Given the description of an element on the screen output the (x, y) to click on. 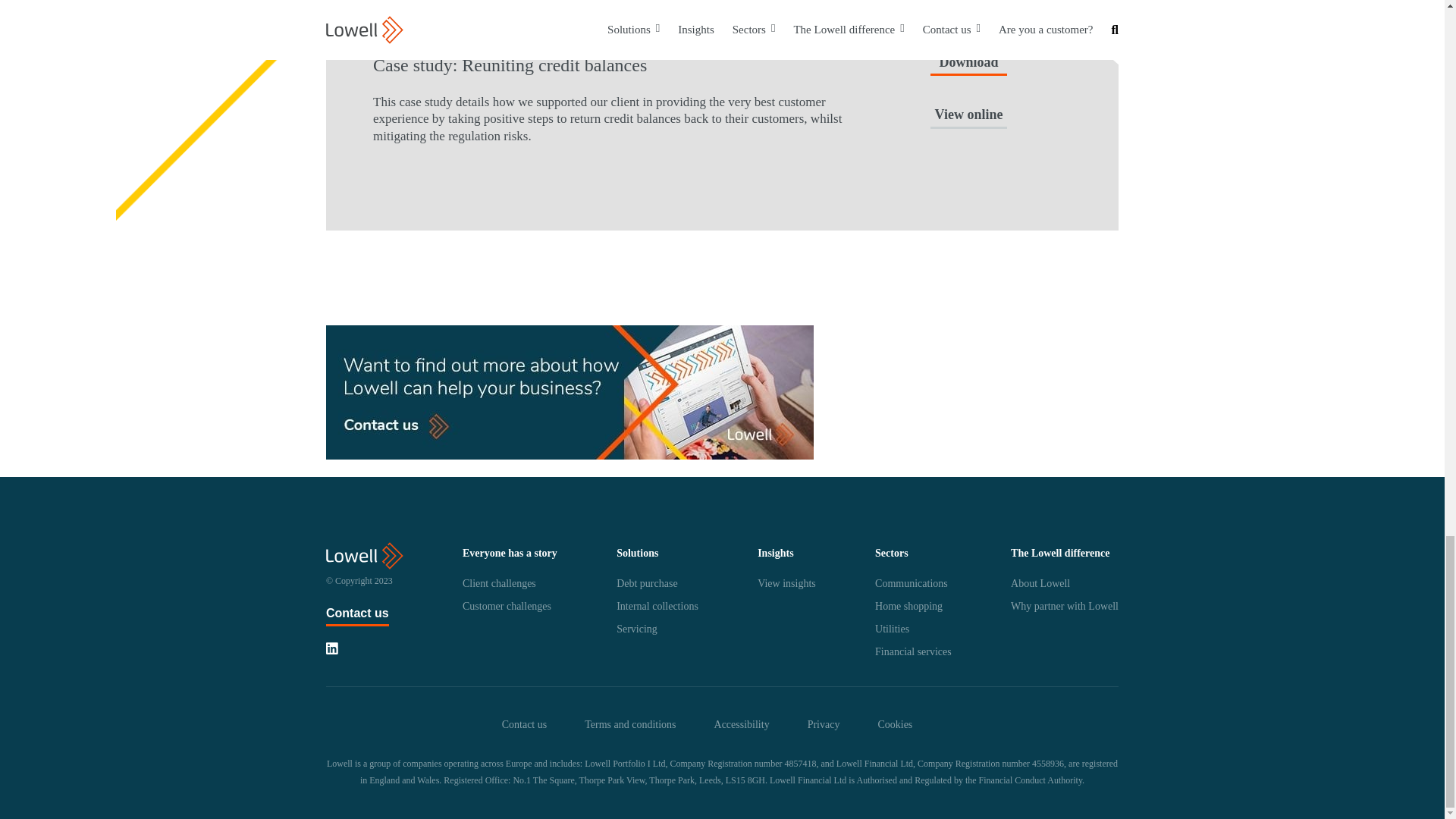
Client challenges (499, 582)
Download (968, 65)
Everyone has a story (510, 553)
Debt purchase (646, 582)
Solutions (636, 553)
Contact us (357, 612)
View online (968, 117)
Customer challenges (507, 604)
